Given the description of an element on the screen output the (x, y) to click on. 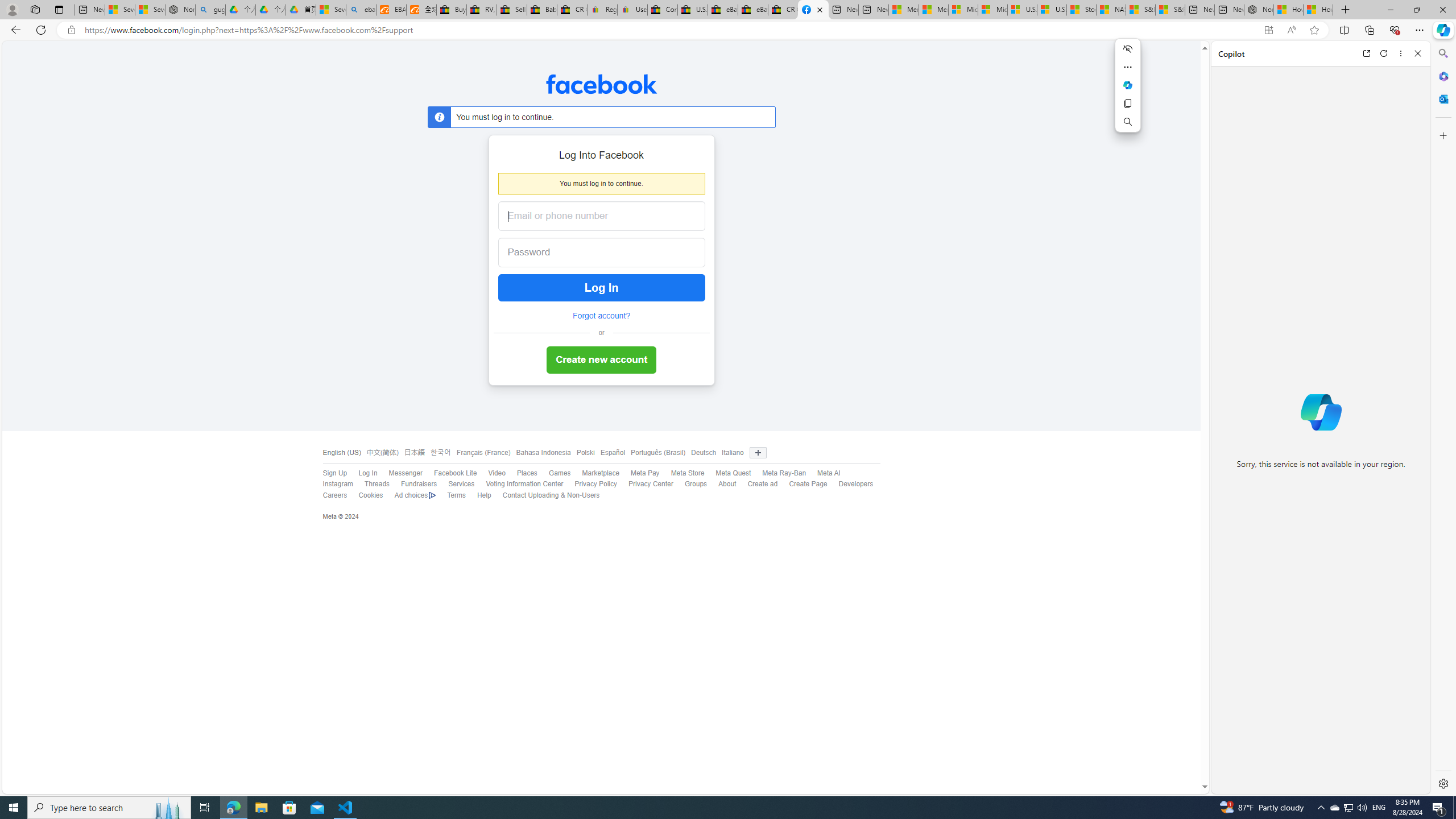
Facebook Lite (449, 473)
Fundraisers (418, 483)
Mini menu on text selection (1128, 91)
Hide menu (1127, 49)
Contact Uploading & Non-Users (550, 494)
Create Page (802, 484)
Show more languages (757, 452)
Customize (1442, 135)
Services (455, 484)
